Given the description of an element on the screen output the (x, y) to click on. 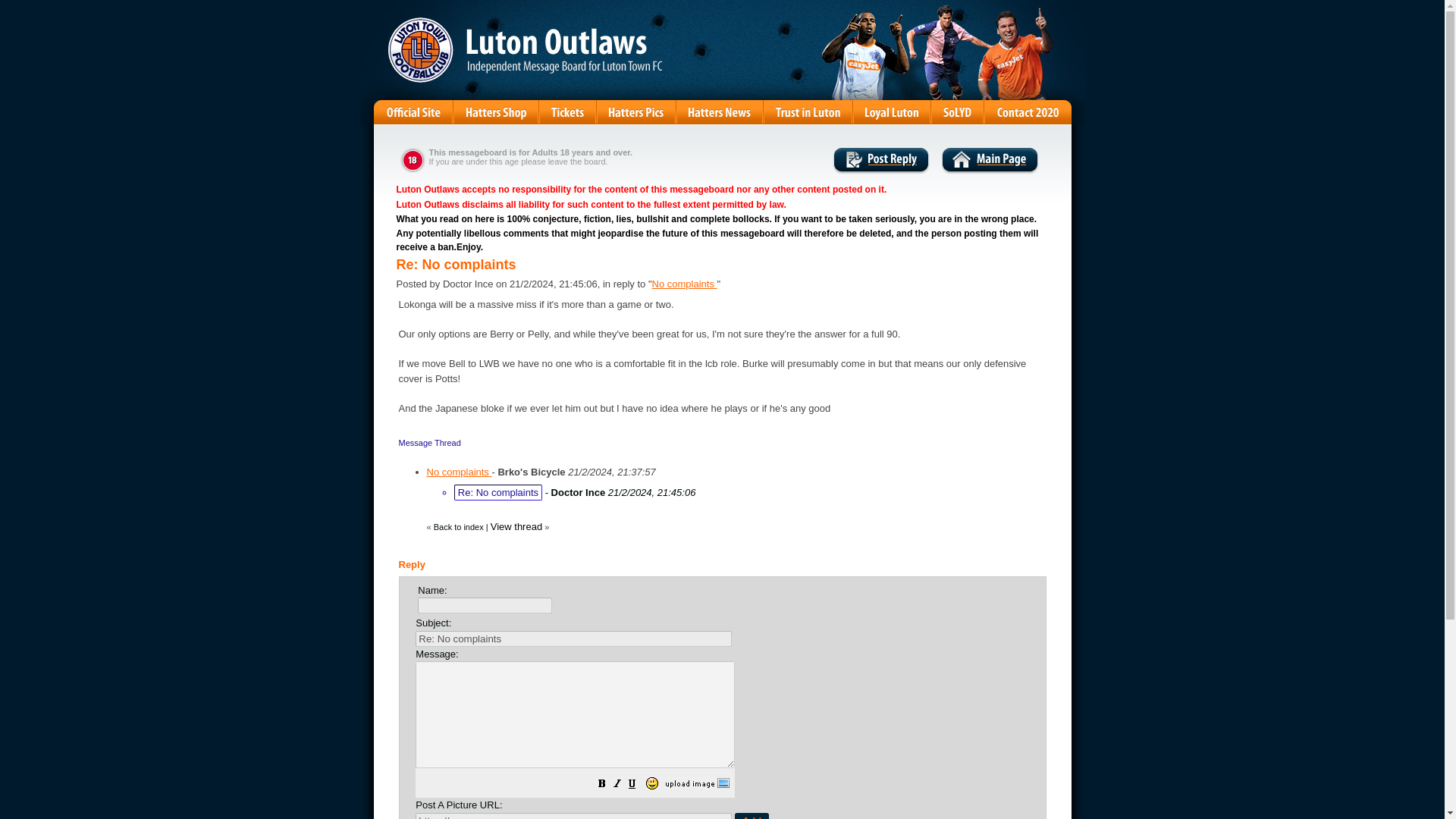
Re: No complaints  (573, 638)
No complaints (459, 471)
No complaints (684, 283)
Message Thread (429, 441)
Back to index (458, 525)
Upload Image (696, 785)
Add (751, 816)
View thread (515, 525)
